Given the description of an element on the screen output the (x, y) to click on. 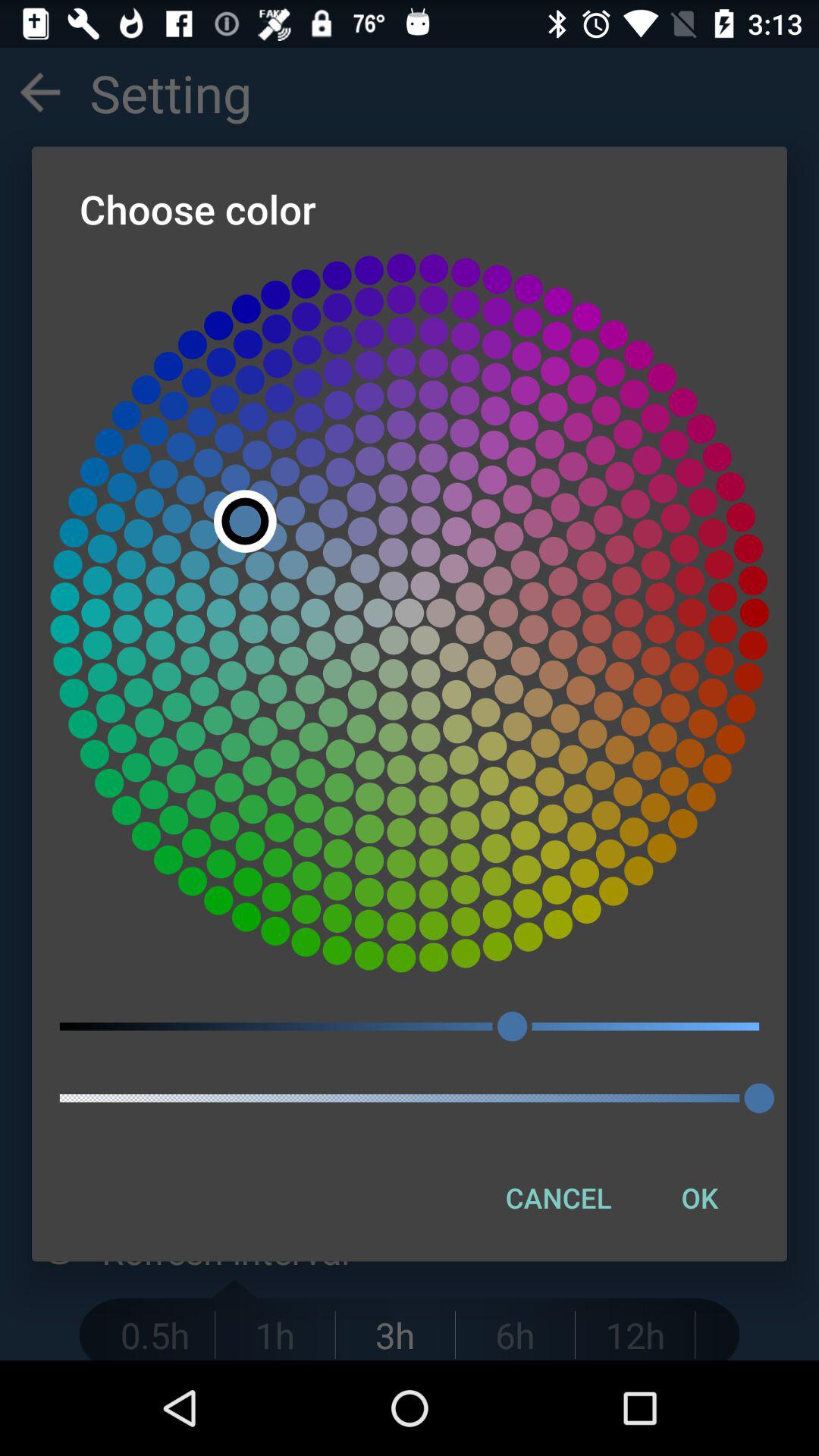
turn off cancel (558, 1197)
